Given the description of an element on the screen output the (x, y) to click on. 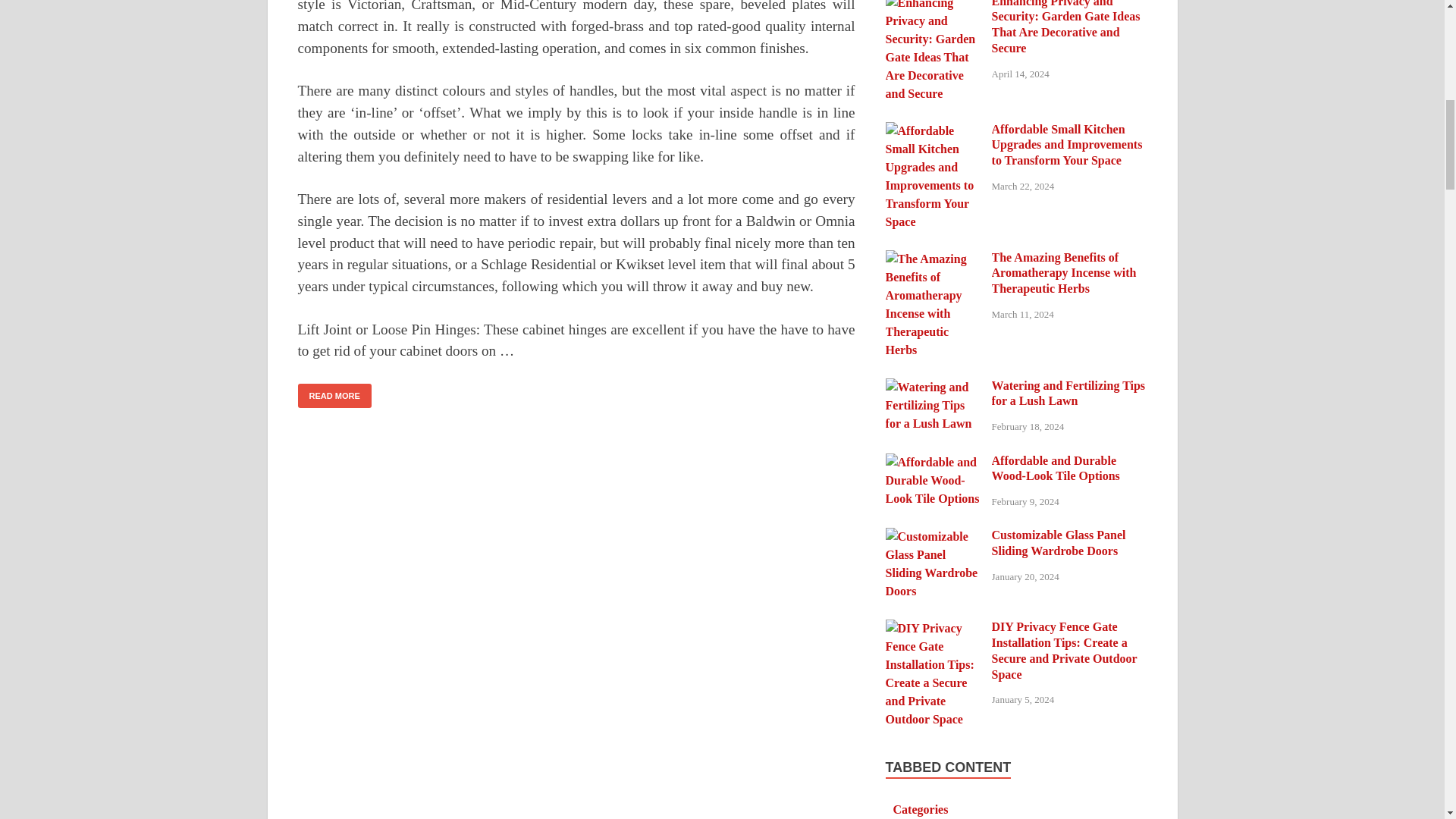
Customizable Glass Panel Sliding Wardrobe Doors (932, 535)
Affordable and Durable Wood-Look Tile Options (932, 461)
Watering and Fertilizing Tips for a Lush Lawn (932, 386)
